Given the description of an element on the screen output the (x, y) to click on. 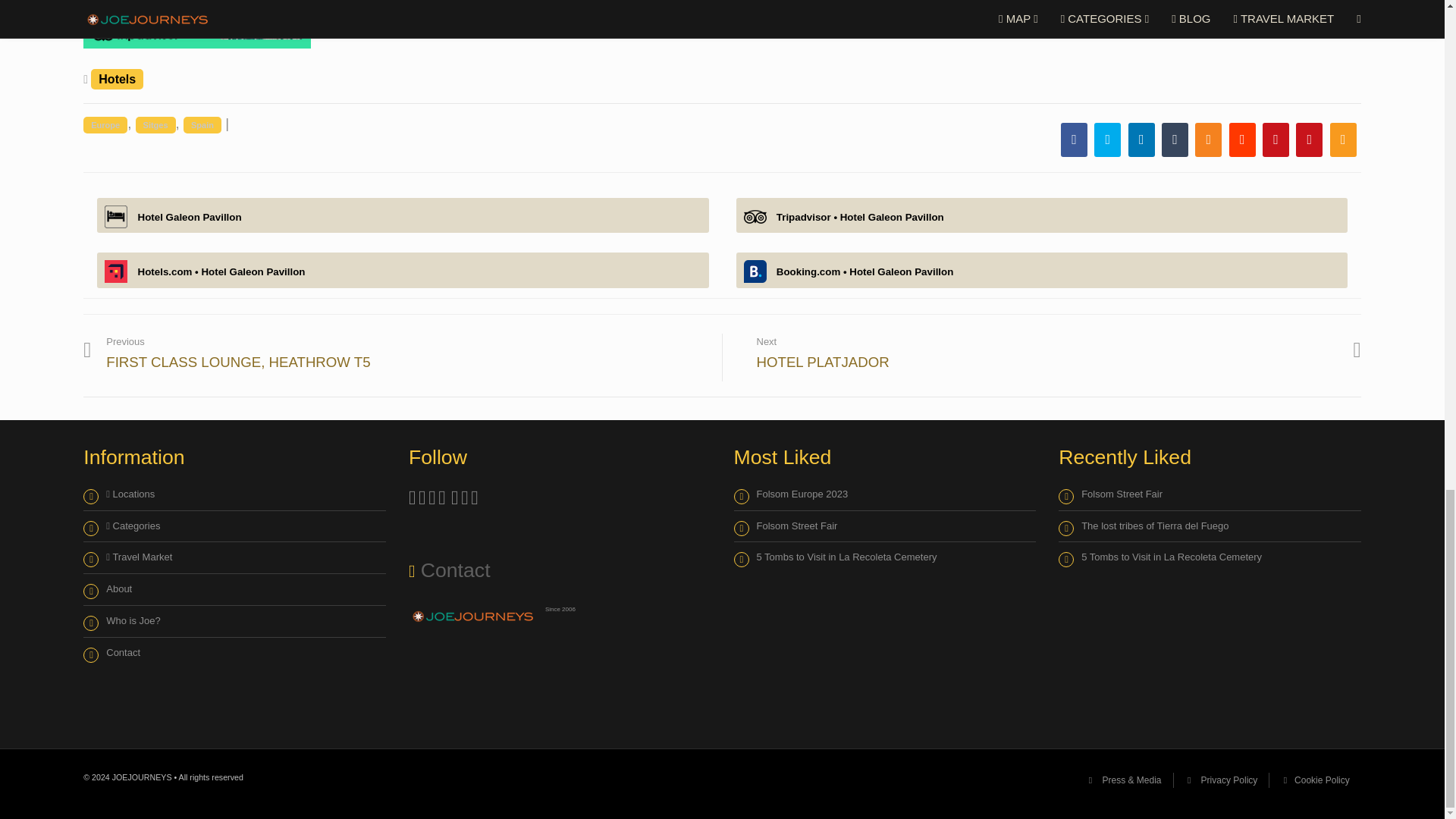
First Class Lounge, Heathrow T5 (237, 357)
Folsom Europe 2023 (790, 494)
Hotel Platjador (1047, 352)
Folsom Street Fair (785, 526)
